Given the description of an element on the screen output the (x, y) to click on. 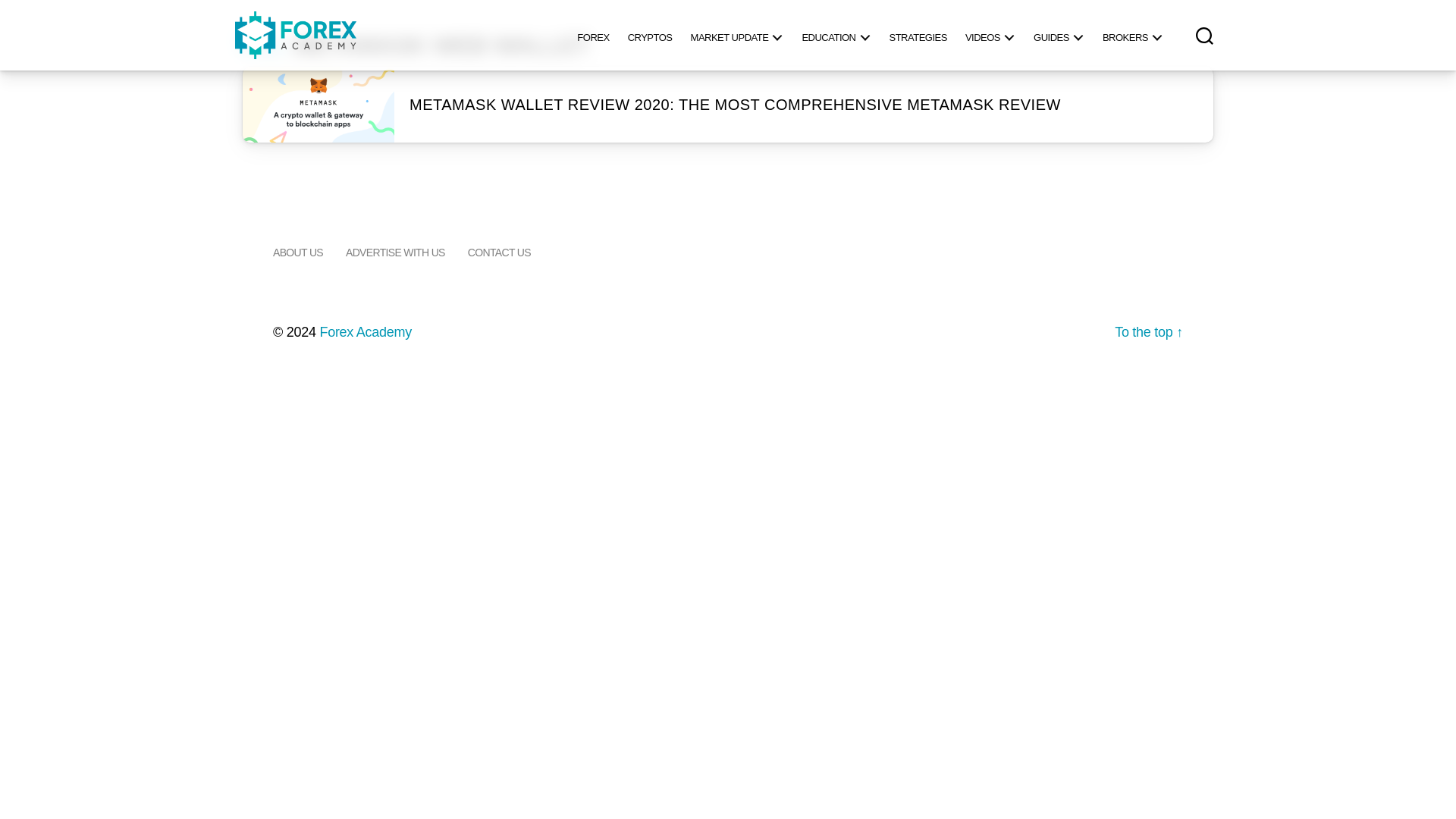
EDUCATION (835, 35)
MARKET UPDATE (737, 35)
CRYPTOS (649, 35)
VIDEOS (990, 35)
BROKERS (1132, 35)
STRATEGIES (917, 35)
GUIDES (1059, 35)
